Given the description of an element on the screen output the (x, y) to click on. 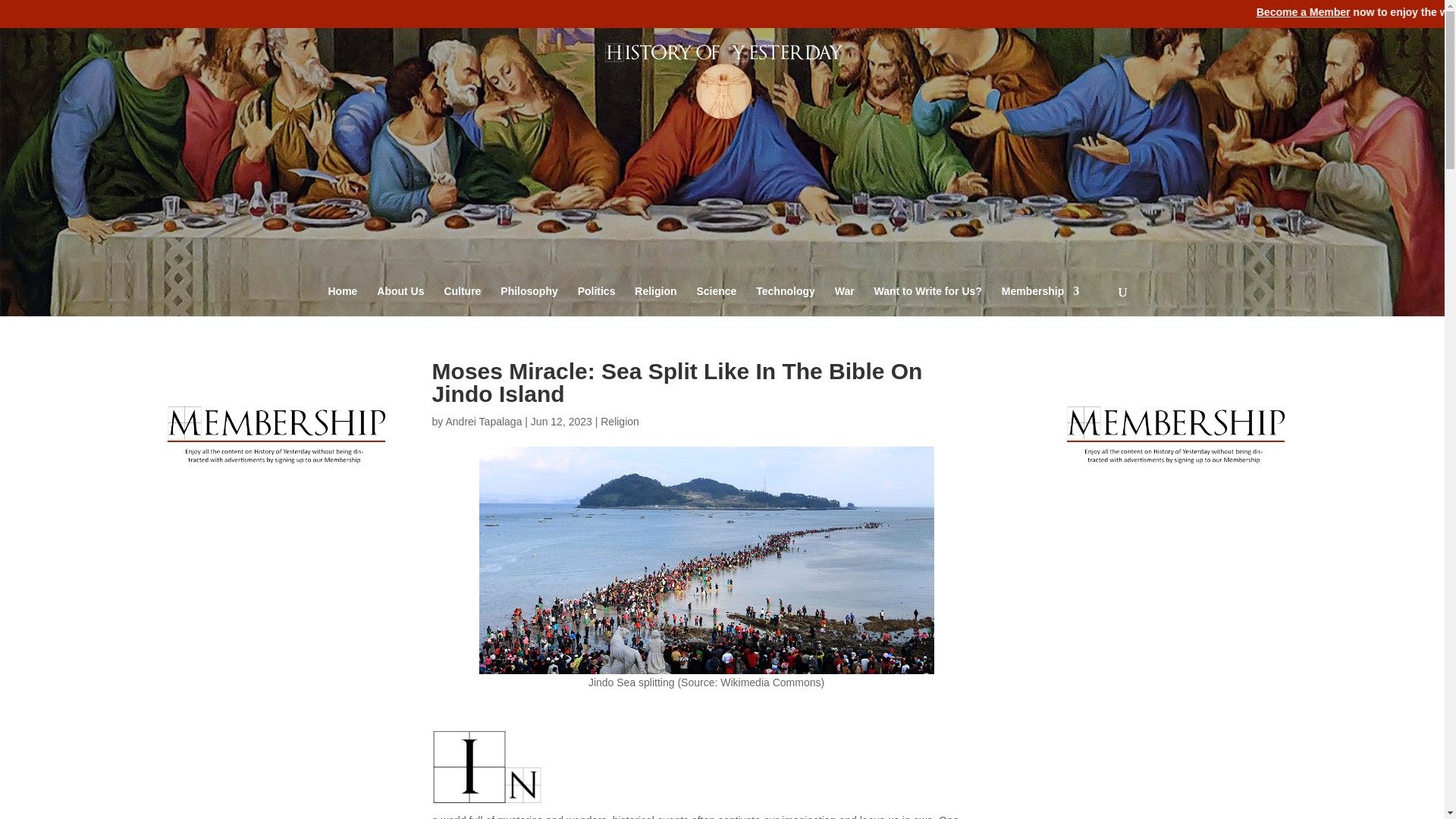
Philosophy (528, 303)
About Us (400, 303)
Share (1395, 58)
Science (715, 303)
Posts by Andrei Tapalaga (483, 421)
Technology (785, 303)
Share (1427, 58)
Andrei Tapalaga (483, 421)
Tweet (1364, 58)
Want to Write for Us? (928, 303)
Religion (619, 421)
Politics (596, 303)
Religion (655, 303)
Membership (1039, 303)
Culture (462, 303)
